Given the description of an element on the screen output the (x, y) to click on. 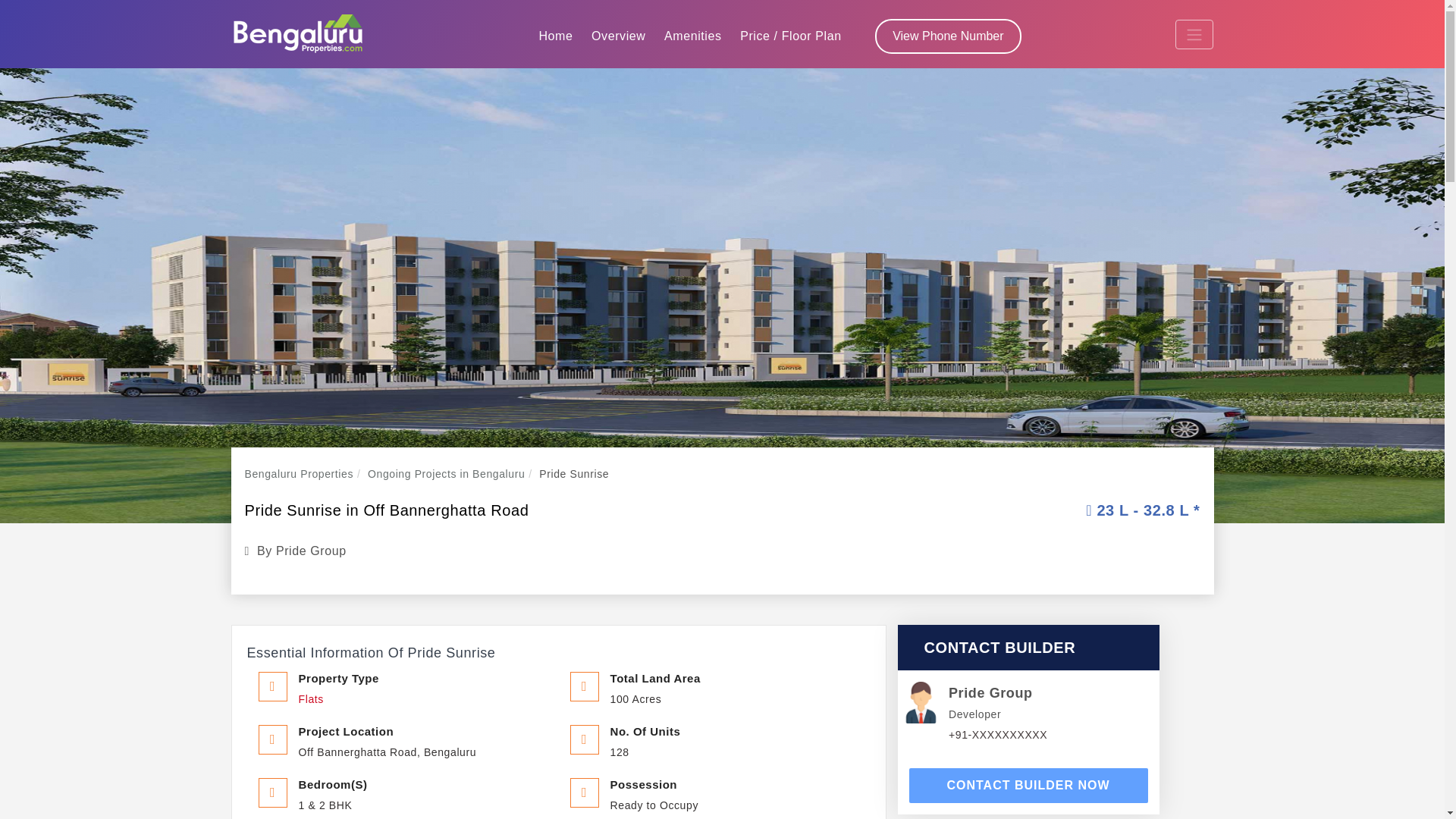
Home (555, 35)
CONTACT BUILDER NOW (1027, 785)
Bengaluru Properties (297, 34)
View Phone Number (947, 36)
Bengaluru Properties (298, 473)
Overview (617, 35)
Ongoing Projects in Bengaluru (446, 473)
Pride Sunrise (573, 473)
button (1027, 785)
Flats for sale in Off Bannerghatta Road (310, 698)
Overview (617, 35)
Home (555, 35)
Home (555, 35)
Bengaluru Properties (298, 473)
Amenities (692, 35)
